Given the description of an element on the screen output the (x, y) to click on. 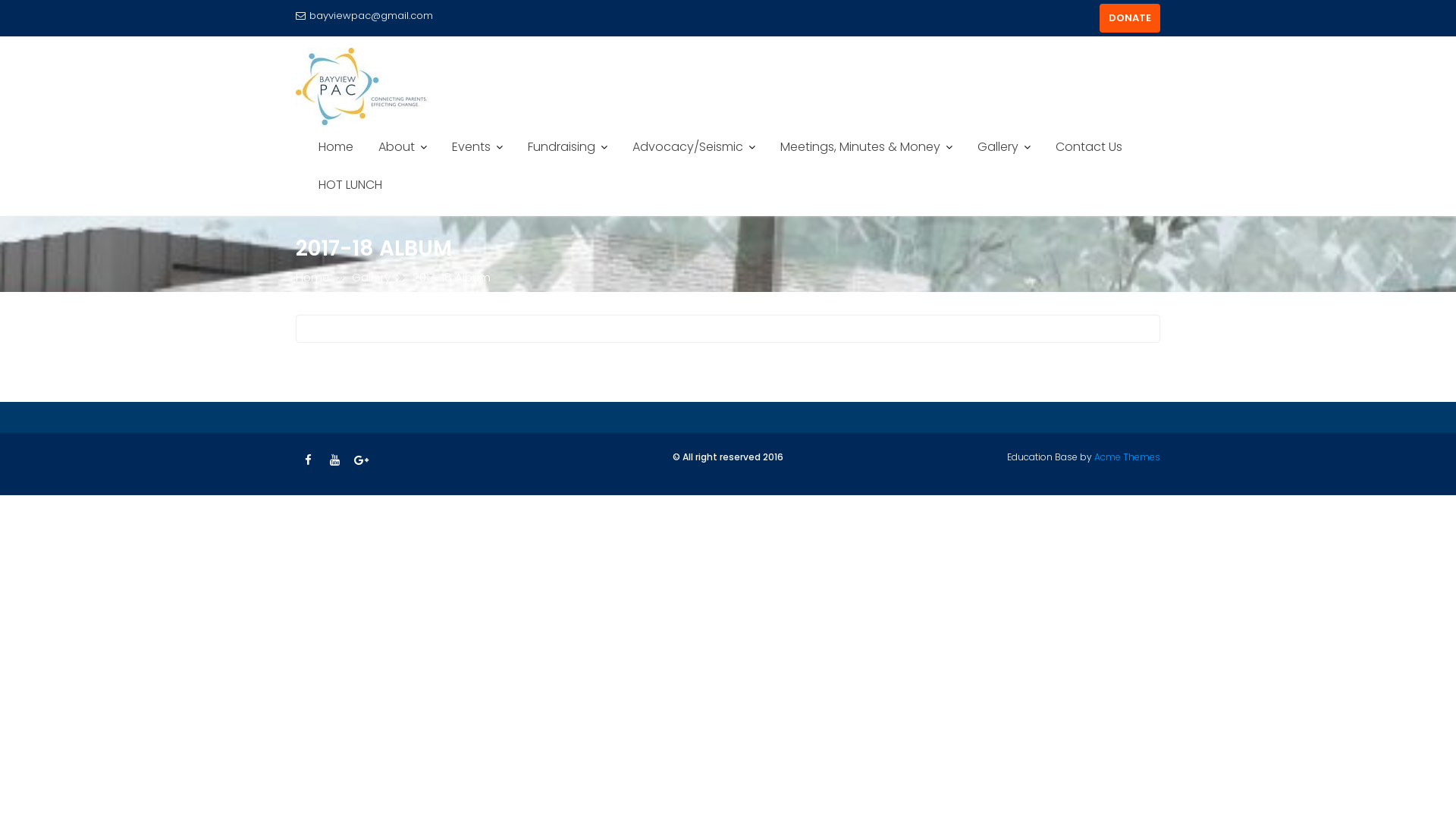
bayviewpac@gmail.com Element type: text (364, 15)
Advocacy/Seismic Element type: text (693, 147)
Gallery Element type: text (370, 277)
Google Plus Element type: hover (360, 460)
Home Element type: text (335, 147)
Youtube Element type: hover (334, 460)
Acme Themes Element type: text (1127, 456)
About Element type: text (402, 147)
HOT LUNCH Element type: text (350, 184)
Events Element type: text (477, 147)
DONATE Element type: text (1129, 17)
Facebook Element type: hover (307, 460)
Contact Us Element type: text (1088, 147)
Meetings, Minutes & Money Element type: text (865, 147)
Fundraising Element type: text (567, 147)
Gallery Element type: text (1003, 147)
Home Element type: text (312, 277)
